Given the description of an element on the screen output the (x, y) to click on. 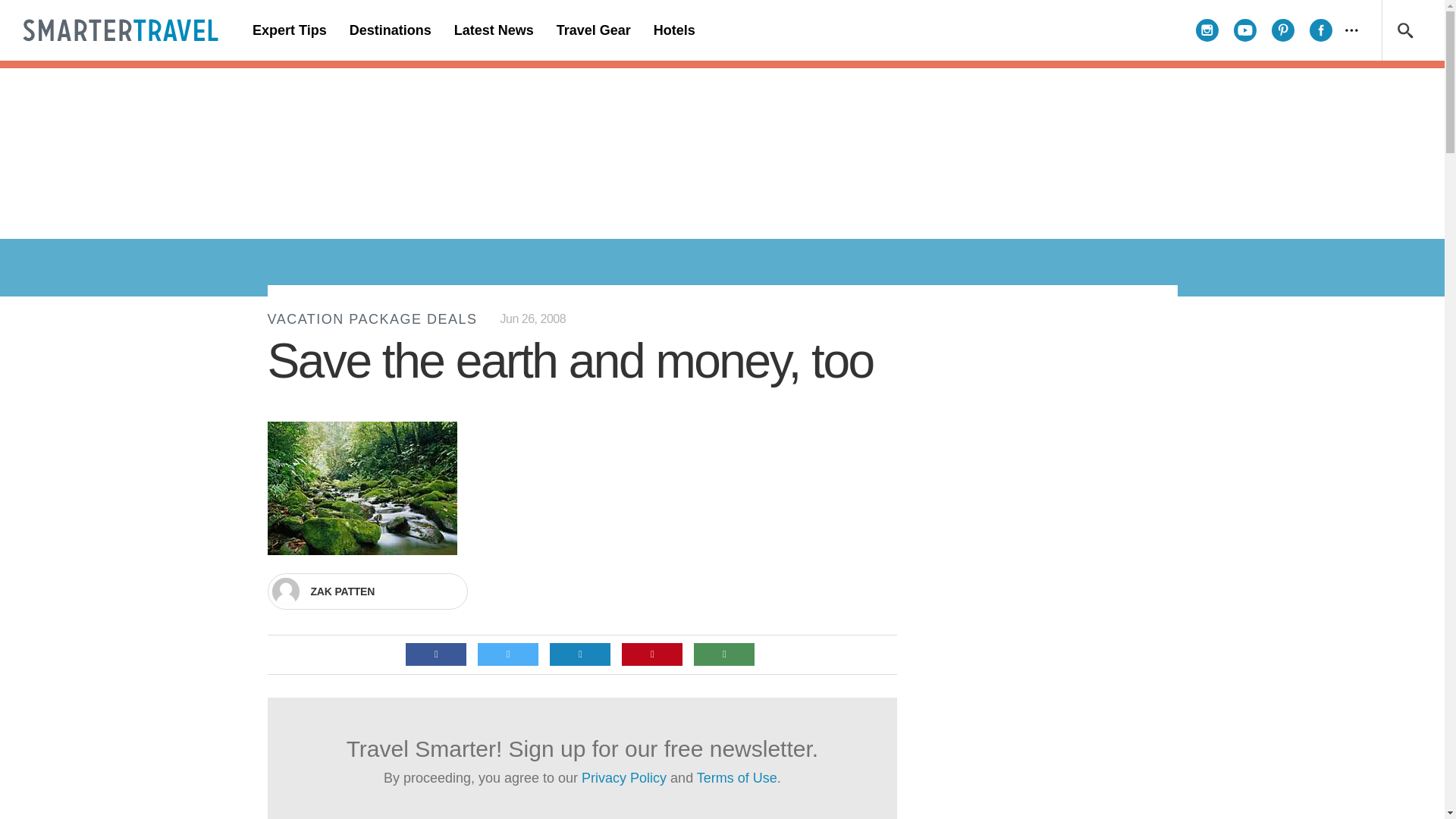
Destinations (389, 30)
Travel Gear (593, 30)
Latest News (493, 30)
Hotels (674, 30)
Expert Tips (289, 30)
